Given the description of an element on the screen output the (x, y) to click on. 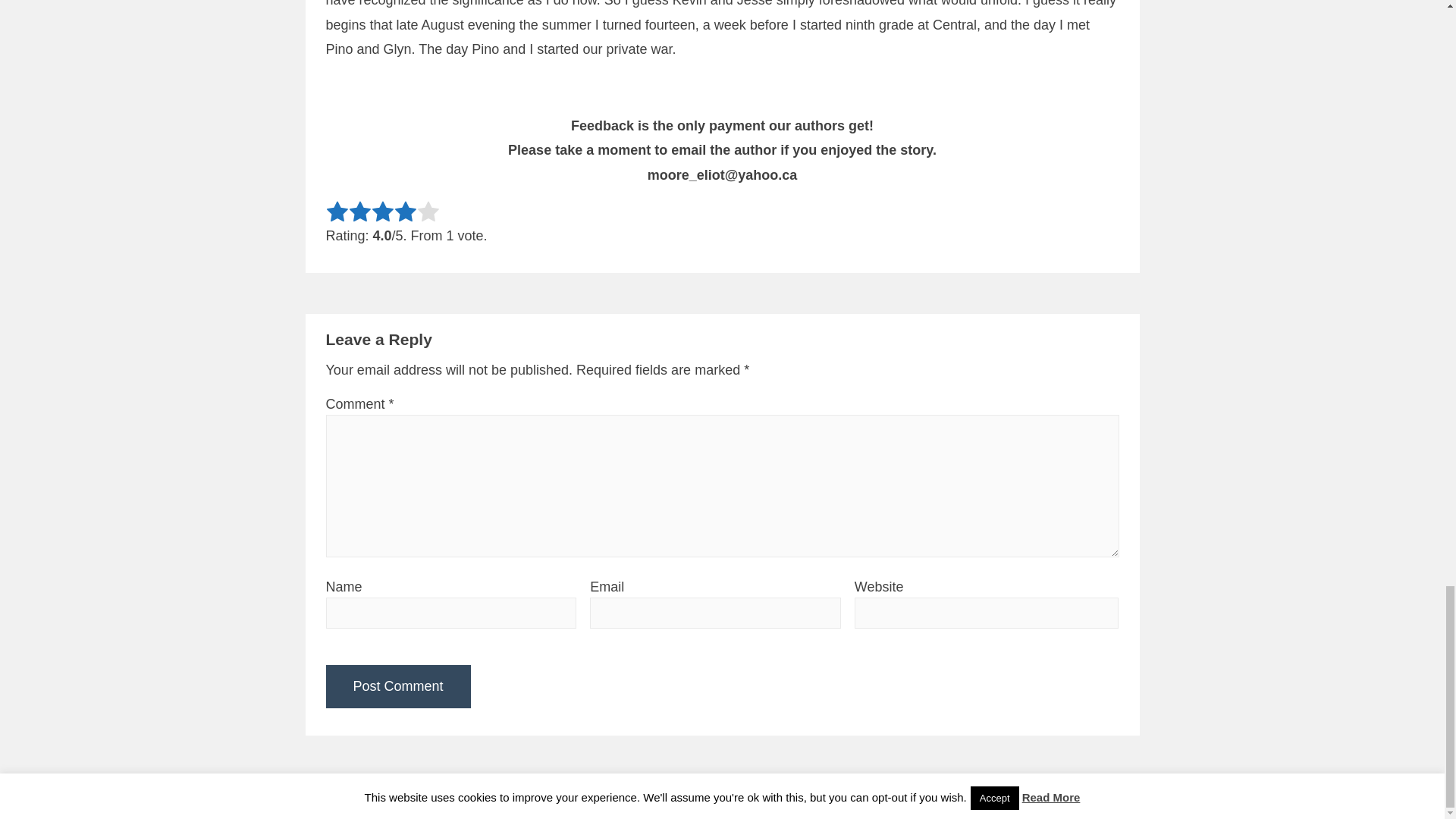
Proudly powered by WordPress (682, 797)
Post Comment (398, 686)
Bhari (834, 797)
Post Comment (398, 686)
